Given the description of an element on the screen output the (x, y) to click on. 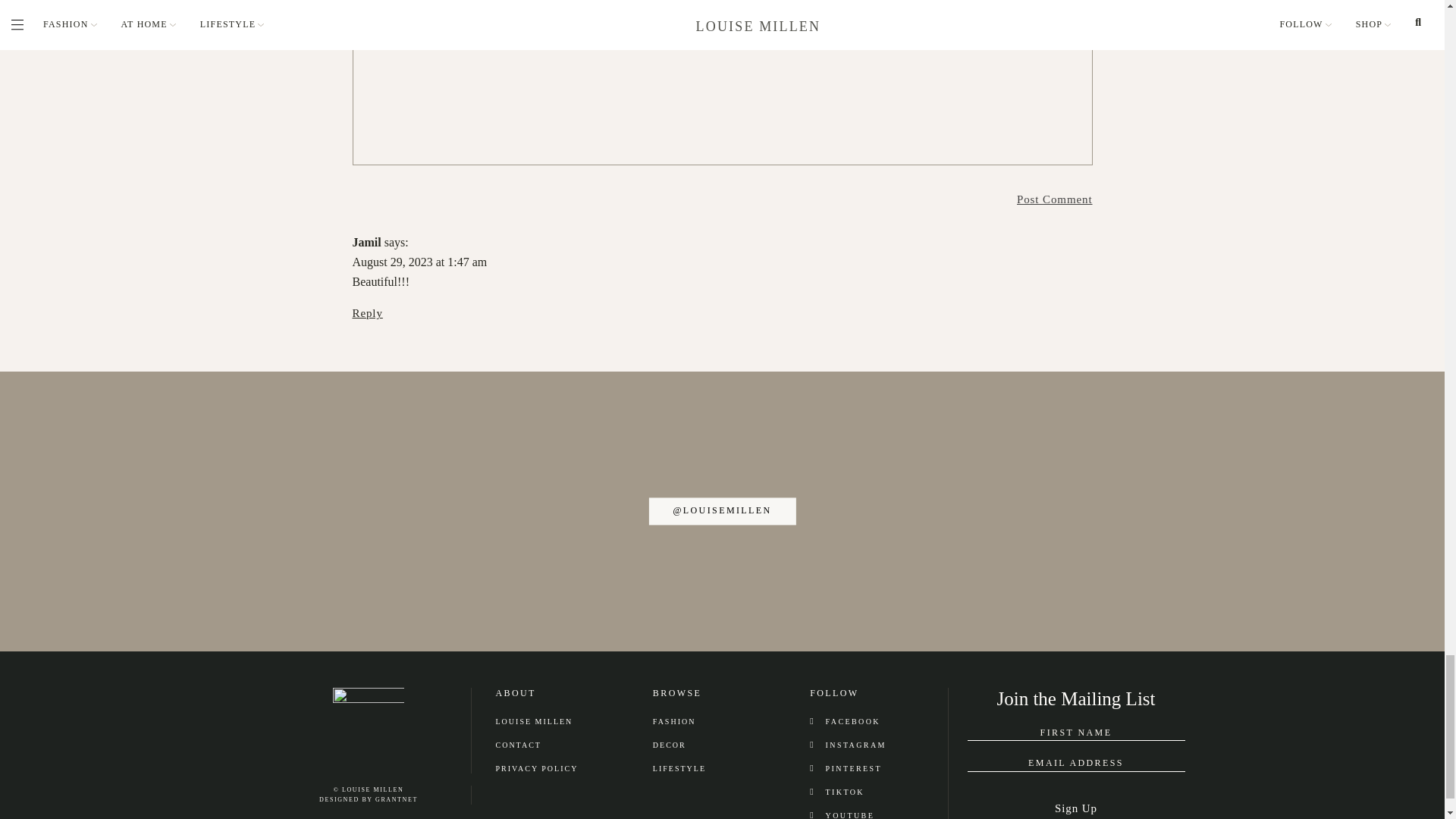
Post Comment (1054, 199)
